Given the description of an element on the screen output the (x, y) to click on. 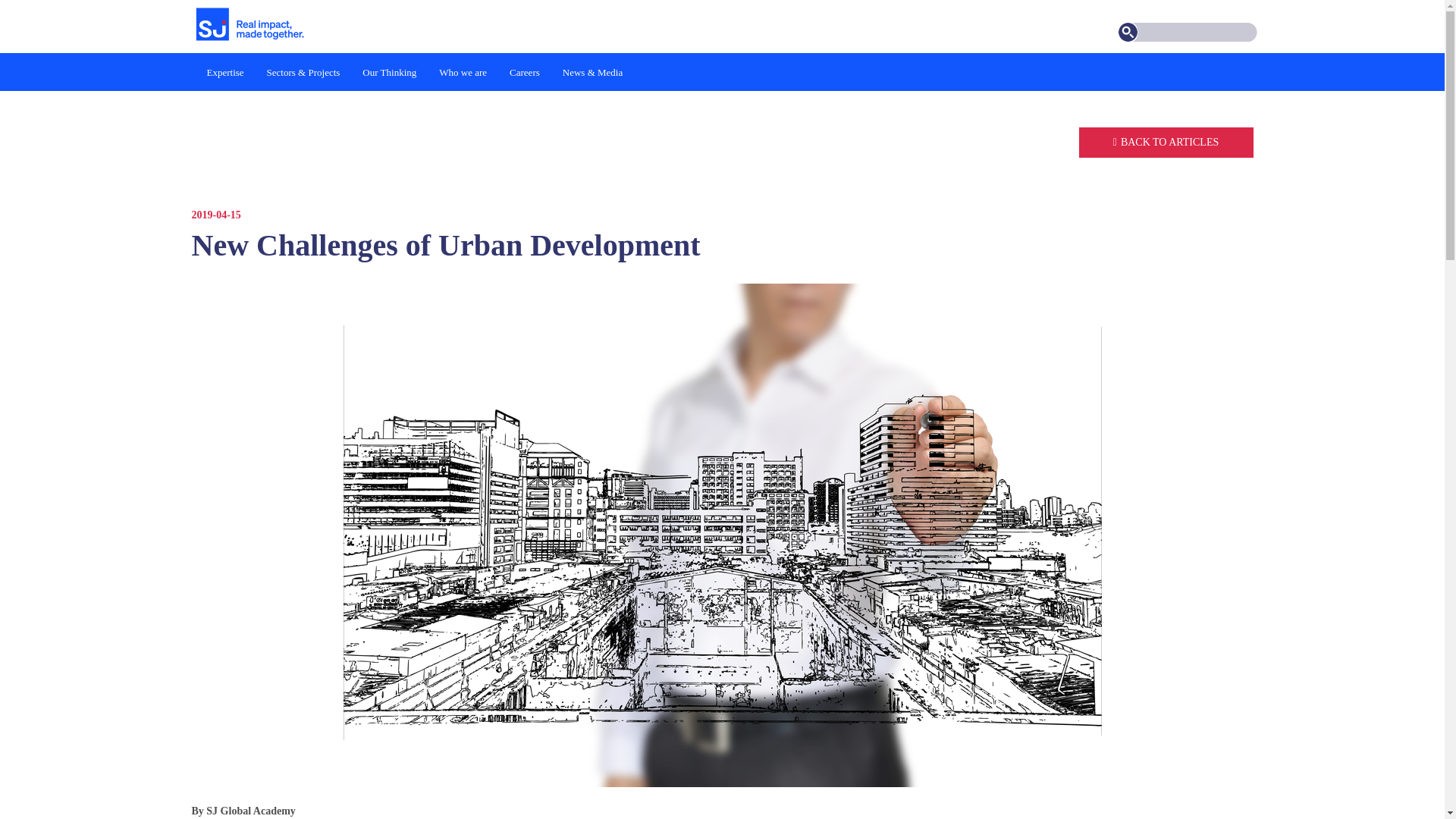
Expertise (225, 71)
